Given the description of an element on the screen output the (x, y) to click on. 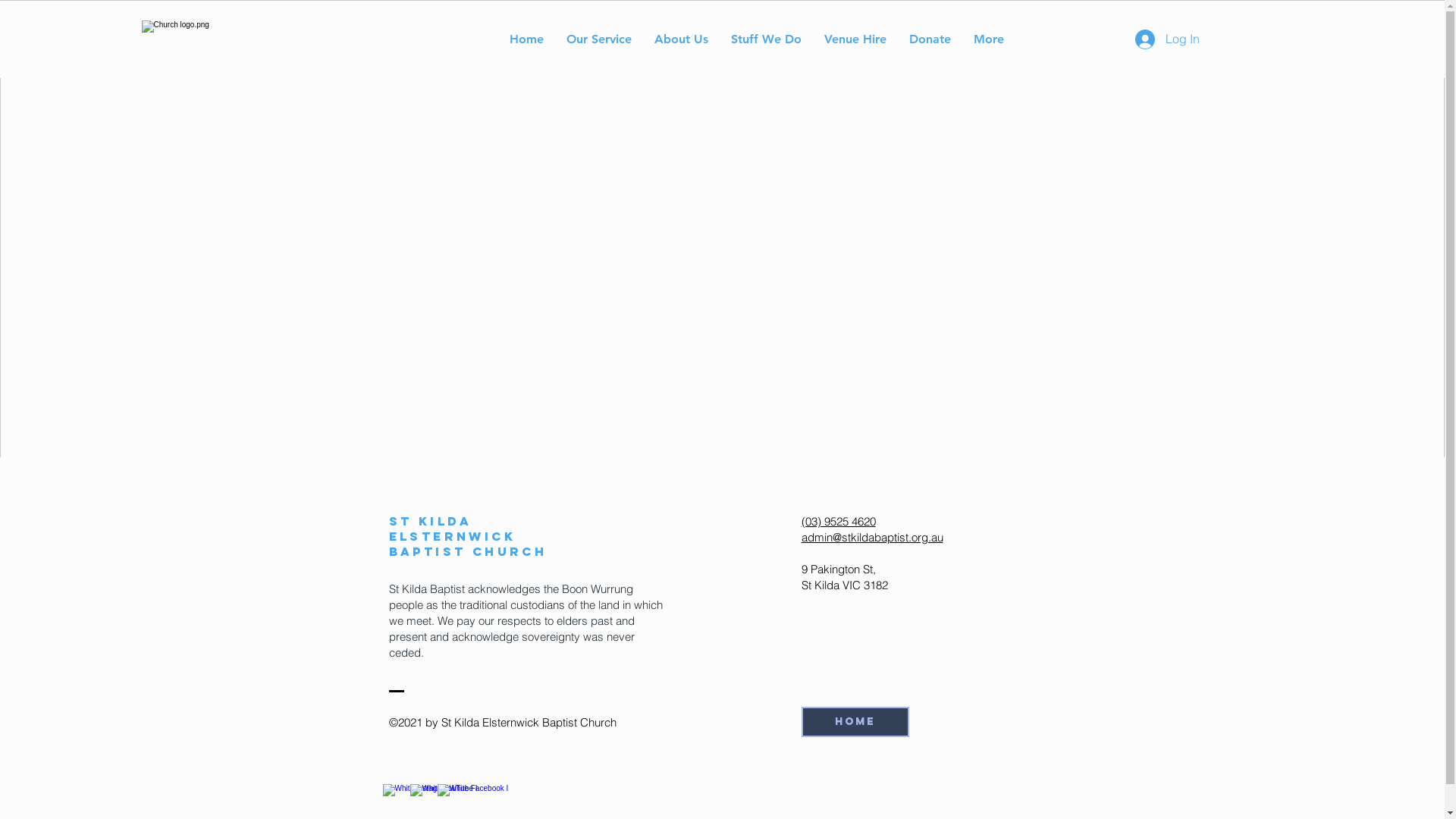
Home Element type: text (854, 721)
Stuff We Do Element type: text (765, 39)
Log In Element type: text (1166, 38)
Home Element type: text (525, 39)
Our Service Element type: text (599, 39)
Venue Hire Element type: text (854, 39)
About Us Element type: text (681, 39)
(03) 9525 4620 Element type: text (837, 521)
admin@stkildabaptist.org.au Element type: text (871, 537)
Donate Element type: text (929, 39)
